Given the description of an element on the screen output the (x, y) to click on. 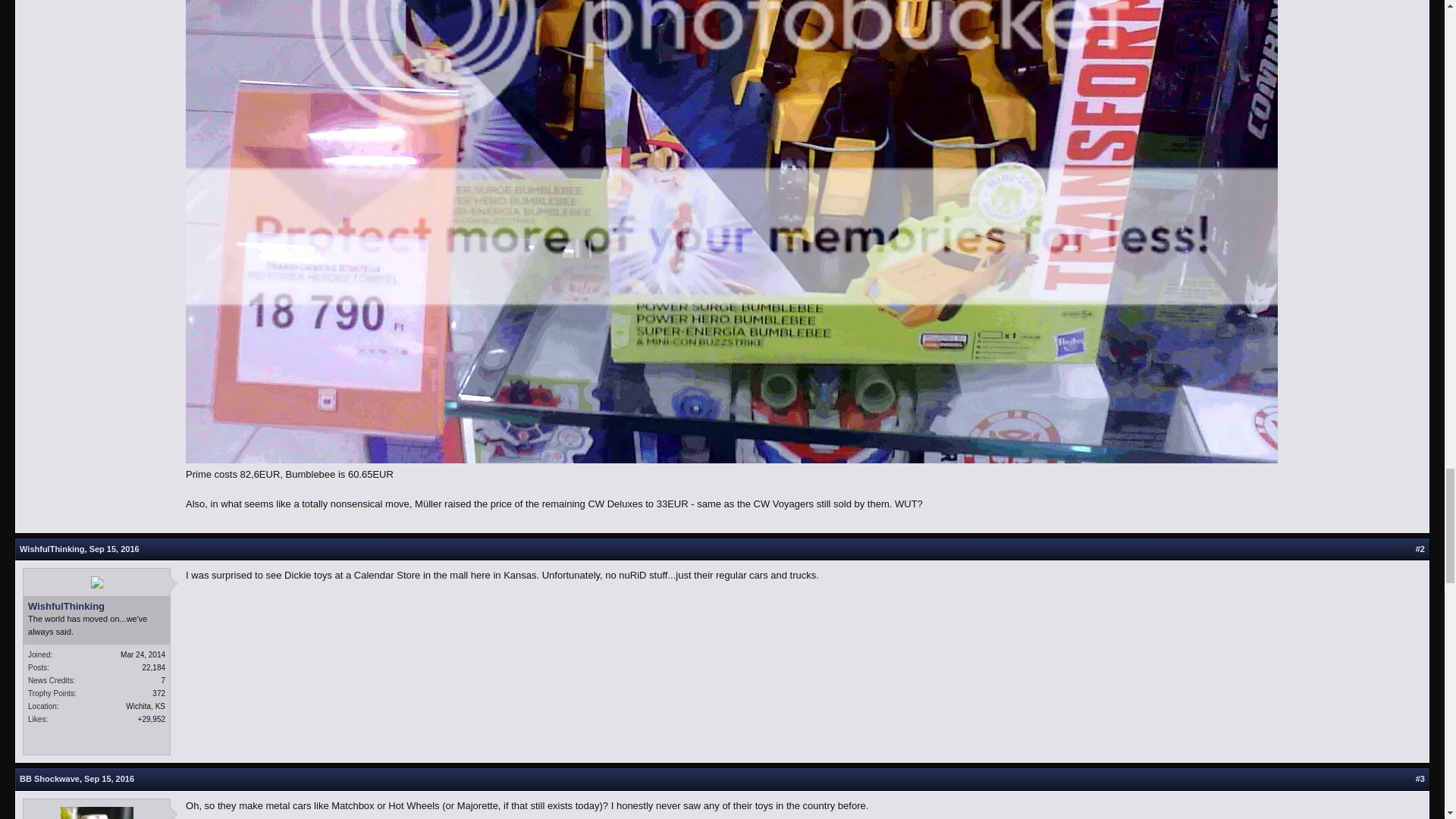
Permalink (113, 548)
WishfulThinking (52, 548)
Sep 15, 2016 (108, 777)
WishfulThinking (96, 606)
372 (158, 693)
Wichita, KS (145, 705)
BB Shockwave (50, 777)
Permalink (108, 777)
Sep 15, 2016 (113, 548)
22,184 (153, 667)
